Given the description of an element on the screen output the (x, y) to click on. 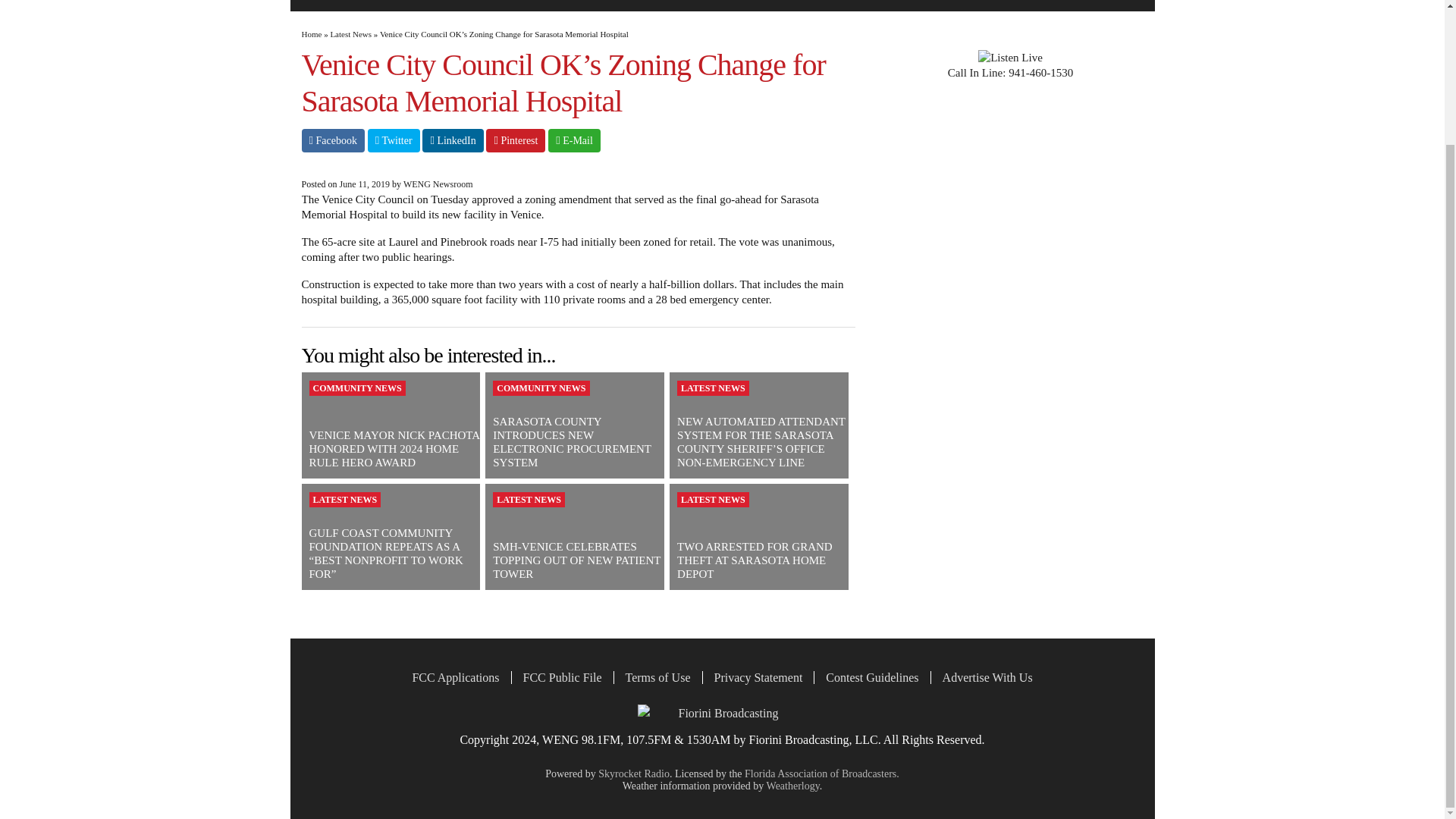
Share to Pinterest (515, 140)
Share to LinkedIn (452, 140)
Share to Facebook (333, 140)
Share to E-Mail (573, 140)
7:59 pm (364, 184)
View all posts by WENG Newsroom (438, 184)
Share to Twitter (394, 140)
